Given the description of an element on the screen output the (x, y) to click on. 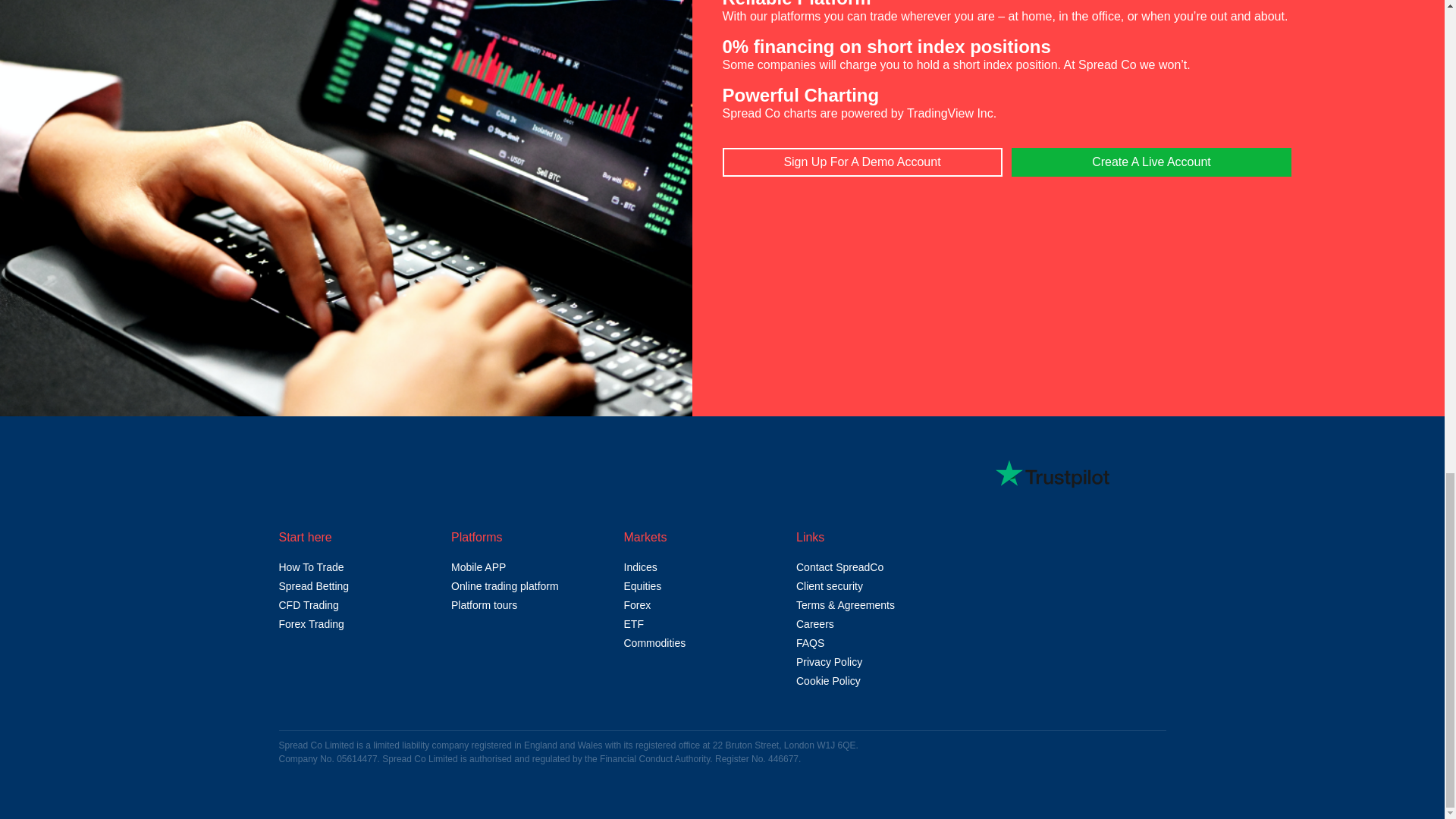
Customer reviews powered by Trustpilot (1052, 473)
